Given the description of an element on the screen output the (x, y) to click on. 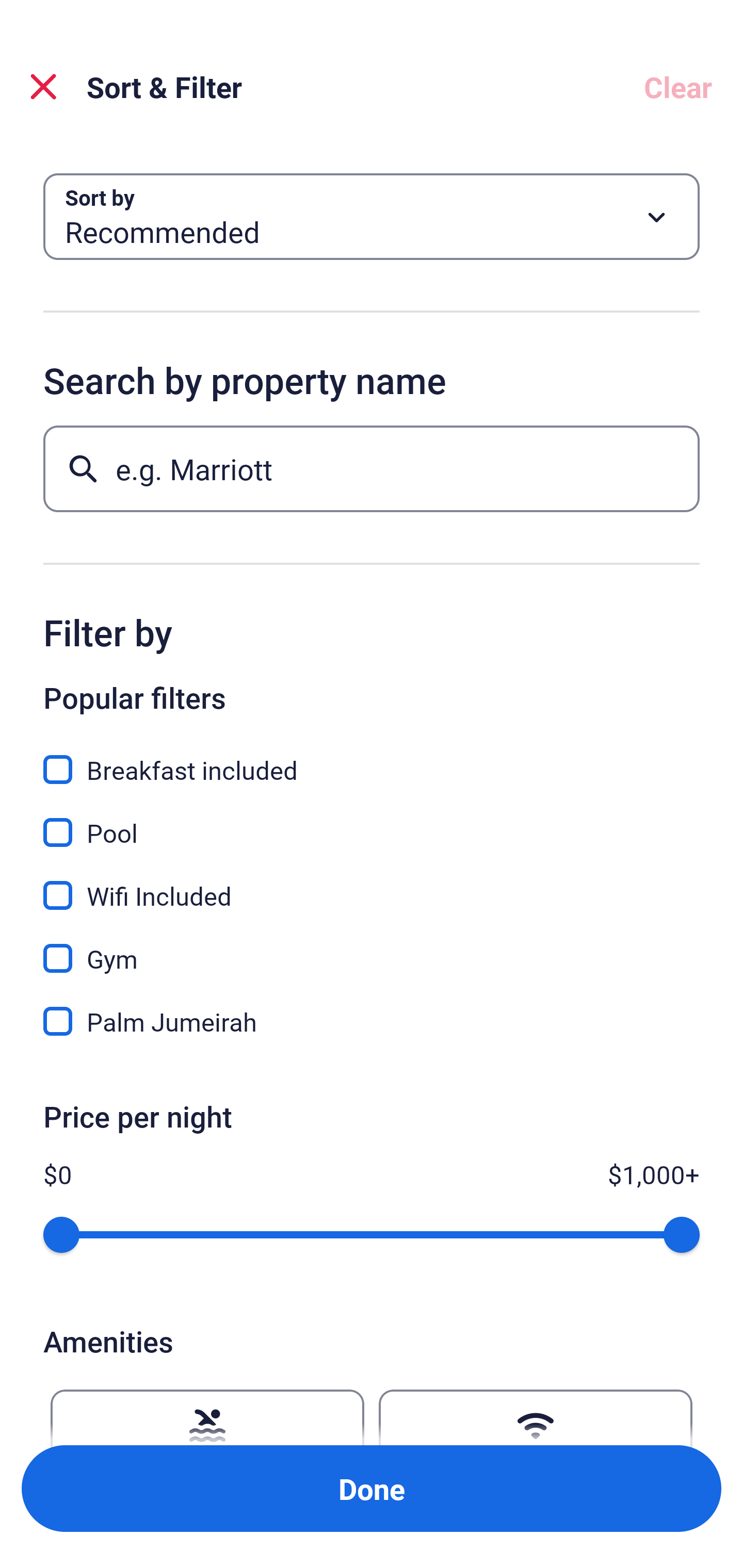
Close Sort and Filter (43, 86)
Clear (677, 86)
Sort by Button Recommended (371, 217)
e.g. Marriott Button (371, 468)
Breakfast included, Breakfast included (371, 757)
Pool, Pool (371, 821)
Wifi Included, Wifi Included (371, 883)
Gym, Gym (371, 946)
Palm Jumeirah, Palm Jumeirah (371, 1021)
Apply and close Sort and Filter Done (371, 1488)
